Given the description of an element on the screen output the (x, y) to click on. 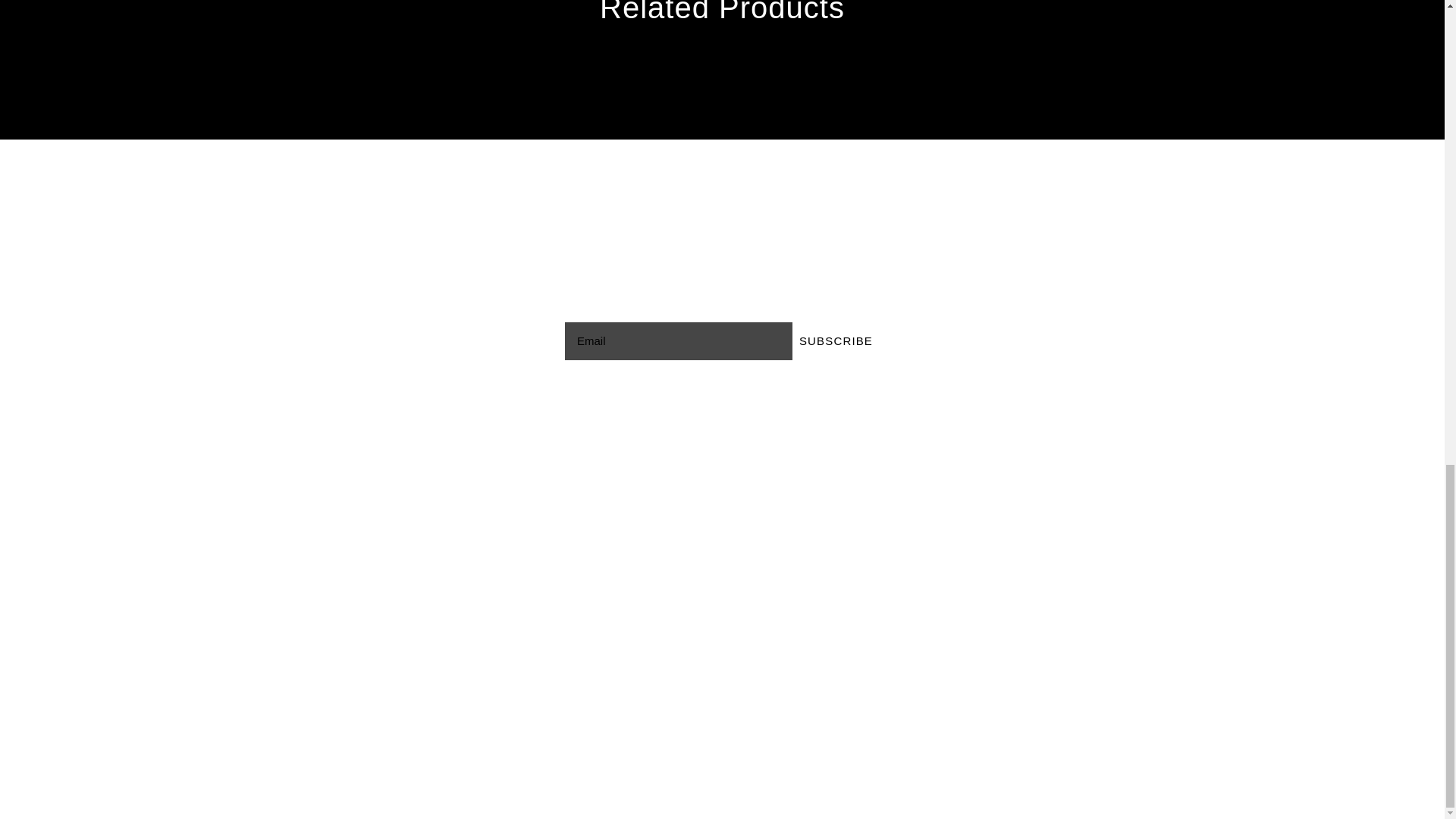
Seminar (887, 495)
Coffee (882, 481)
Awards (884, 590)
The Roasting Process (927, 574)
Terms and Conditions (400, 611)
Archive (930, 620)
Equipment (893, 511)
Shipping and Return (397, 626)
Privacy Policy (378, 641)
Consultant (893, 604)
